Given the description of an element on the screen output the (x, y) to click on. 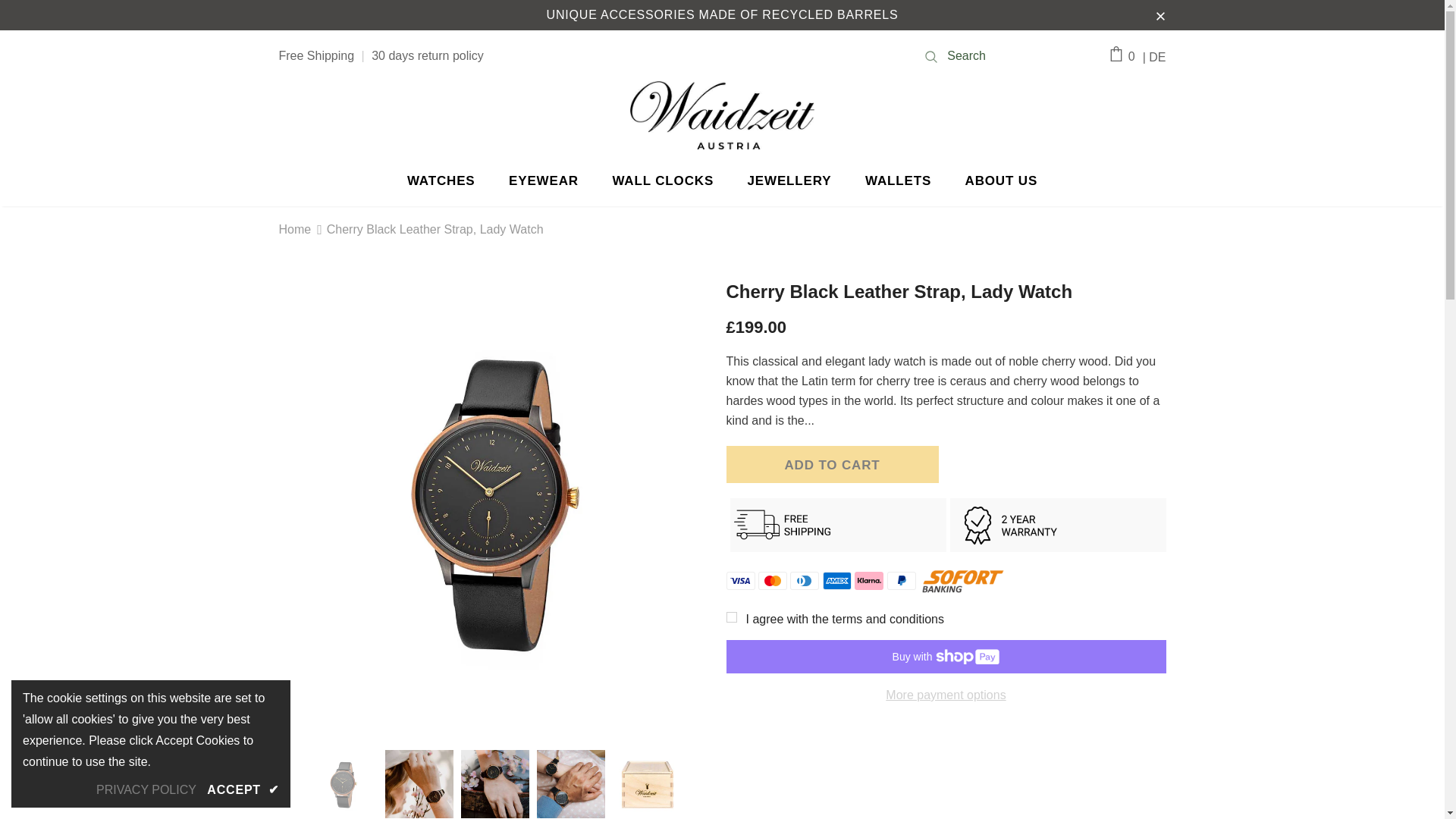
close (1160, 14)
Add to Cart (832, 464)
